Given the description of an element on the screen output the (x, y) to click on. 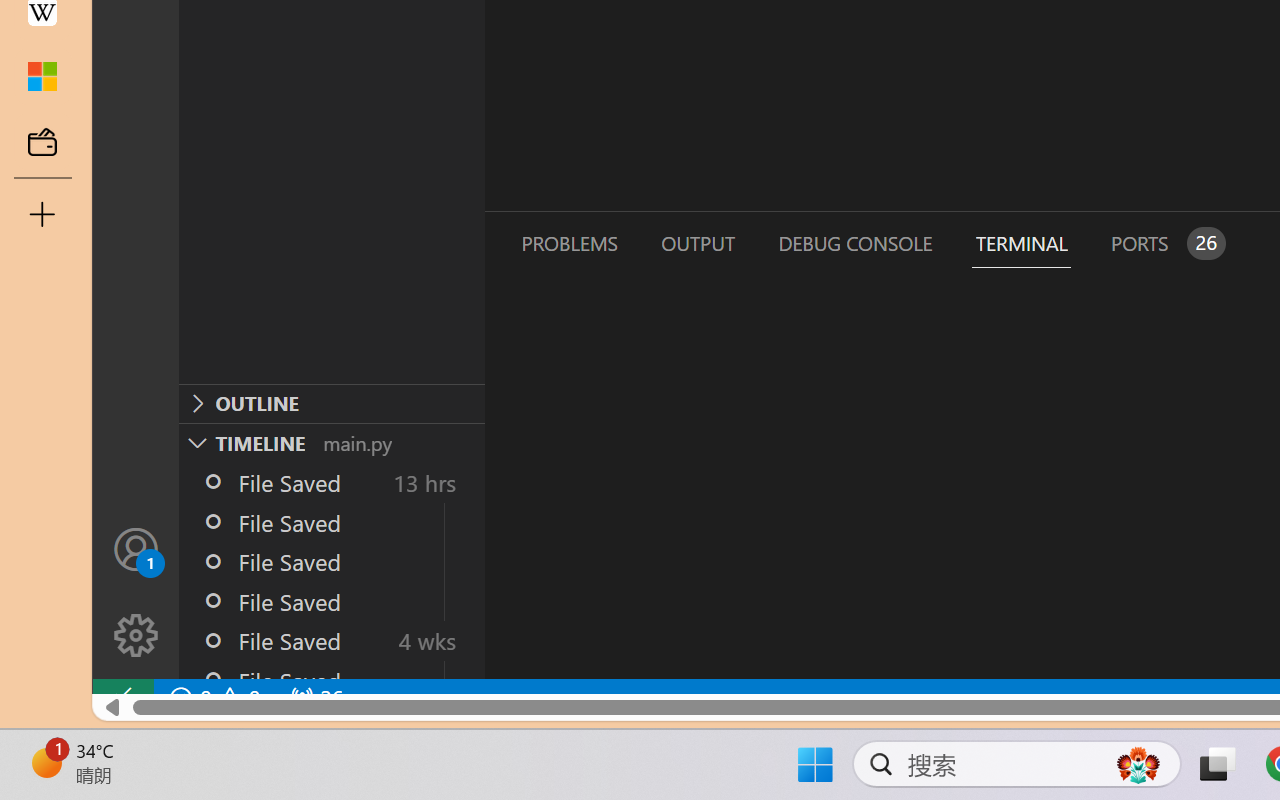
Ports - 26 forwarded ports (1165, 243)
Terminal (Ctrl+`) (1021, 243)
Manage (135, 591)
Debug Console (Ctrl+Shift+Y) (854, 243)
Outline Section (331, 403)
Accounts - Sign in requested (135, 548)
Timeline Section (331, 442)
Manage (135, 635)
Problems (Ctrl+Shift+M) (567, 243)
